Given the description of an element on the screen output the (x, y) to click on. 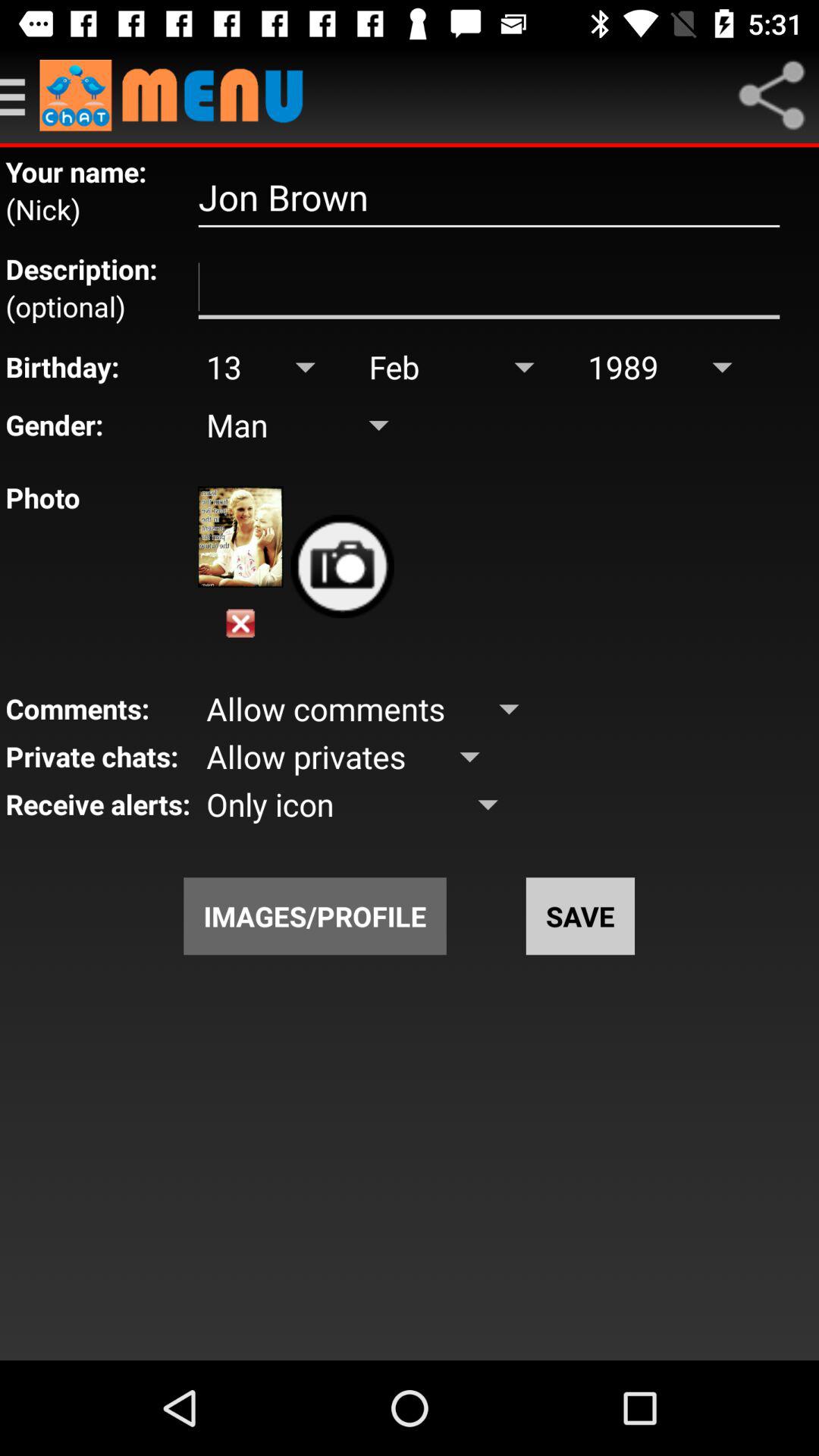
menu selection (178, 95)
